Given the description of an element on the screen output the (x, y) to click on. 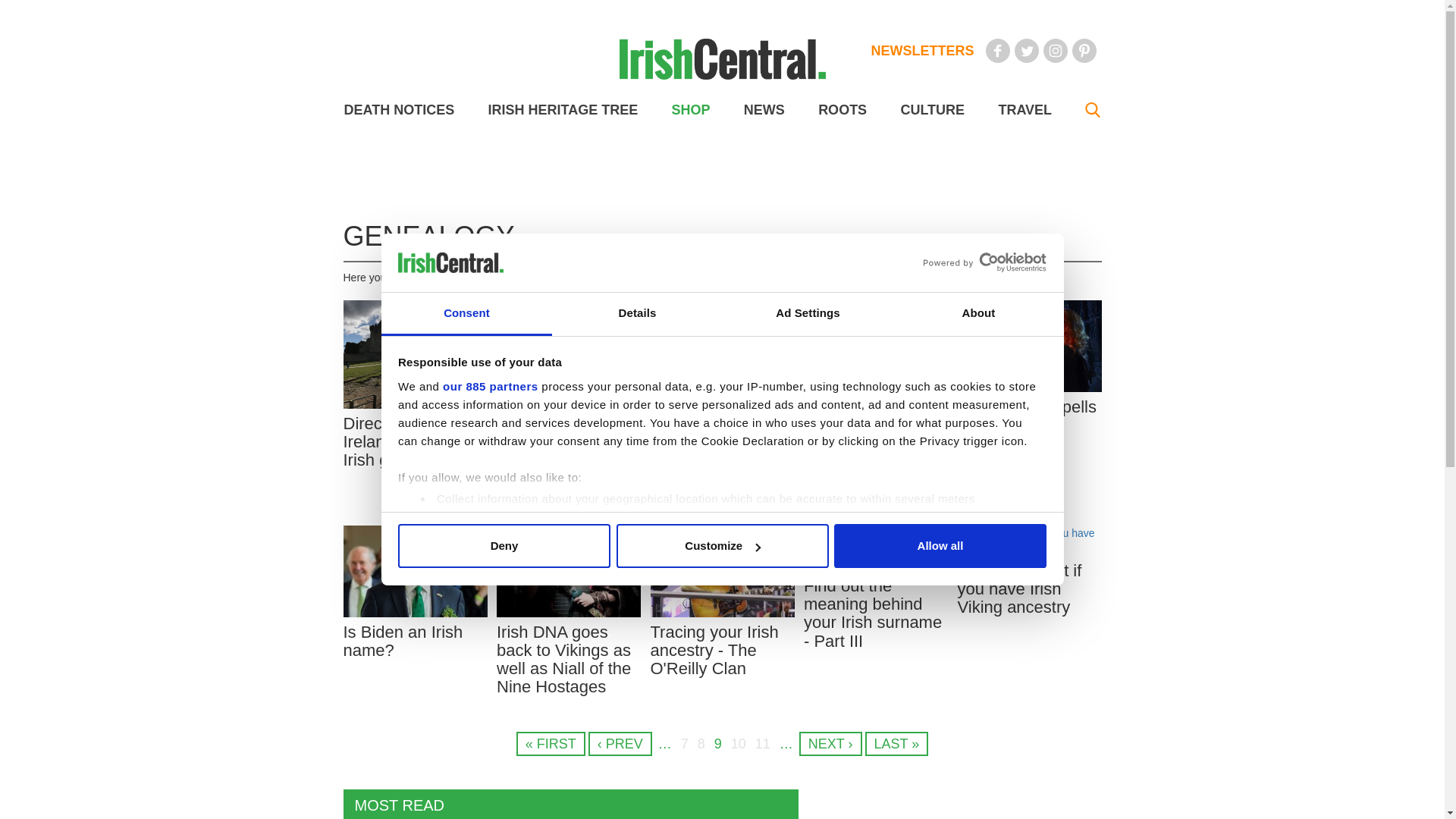
About (978, 313)
Details (636, 313)
Consent (465, 313)
Ad Settings (807, 313)
details section (927, 536)
our 885 partners (490, 386)
